Given the description of an element on the screen output the (x, y) to click on. 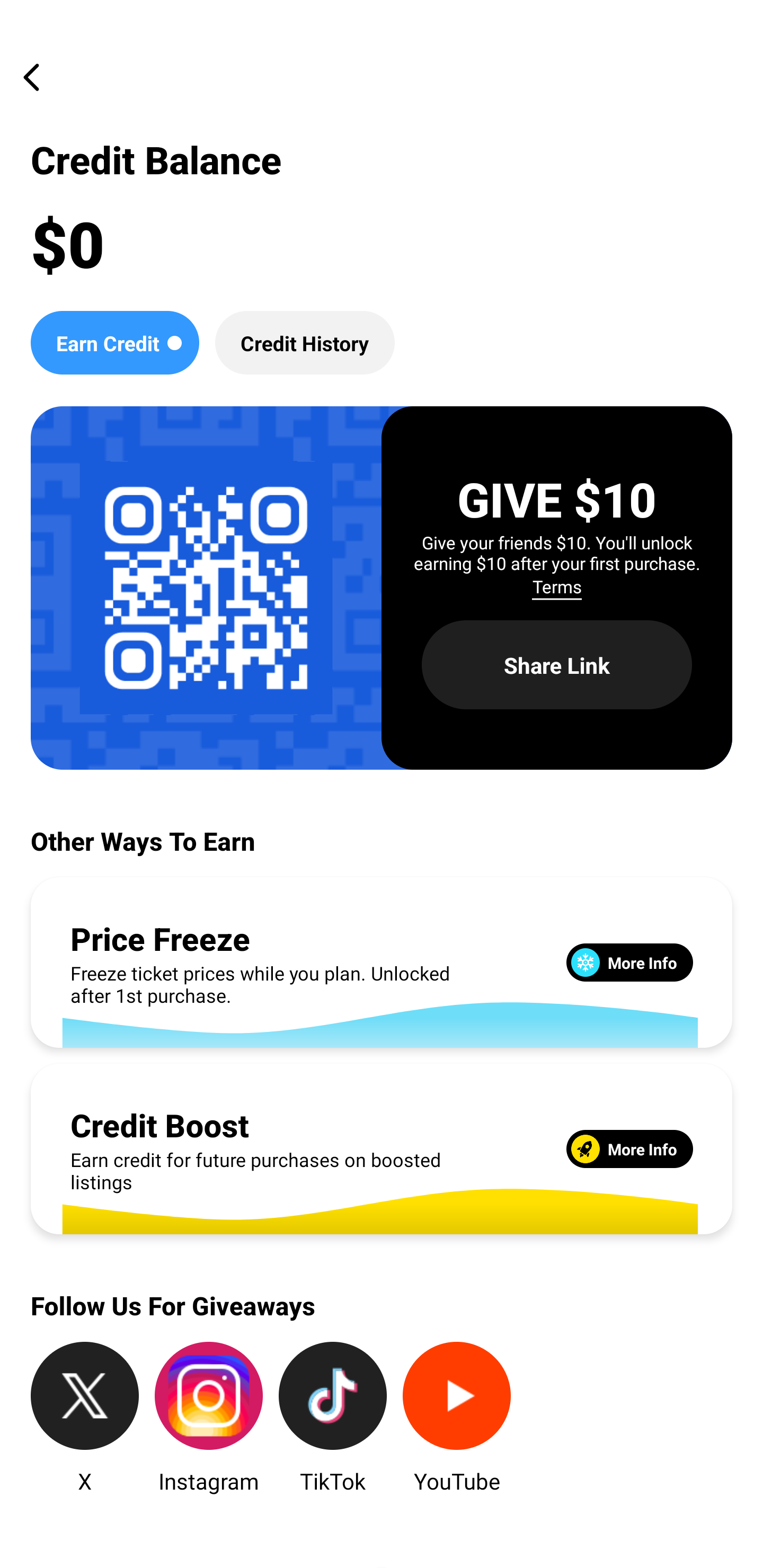
Earn Credit (114, 342)
Credit History (304, 342)
Share Link (556, 664)
More Info (629, 962)
More Info (629, 1149)
X (84, 1418)
Instagram (208, 1418)
TikTok (332, 1418)
YouTube (456, 1418)
